Given the description of an element on the screen output the (x, y) to click on. 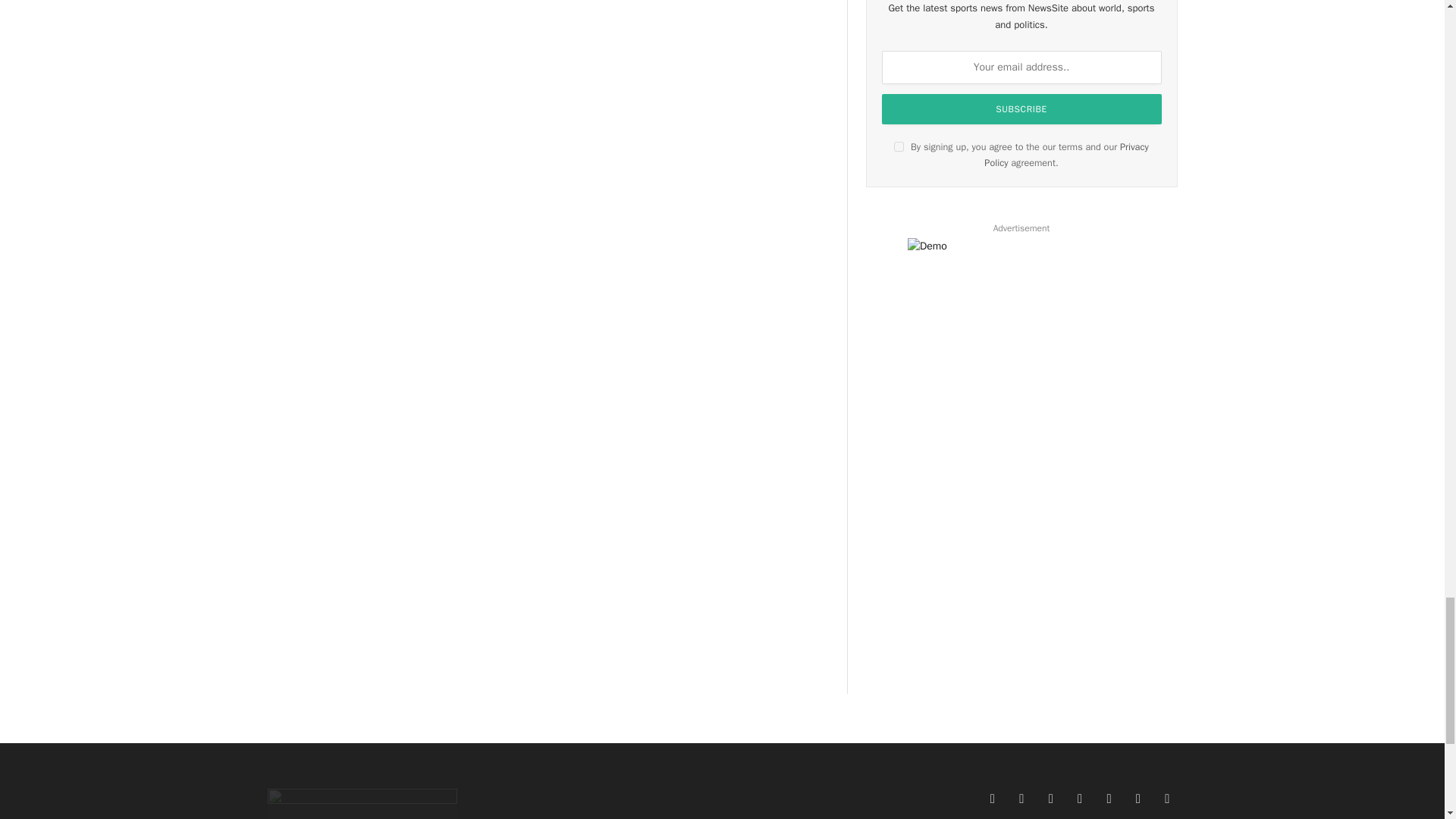
on (898, 146)
Subscribe (1021, 109)
